Given the description of an element on the screen output the (x, y) to click on. 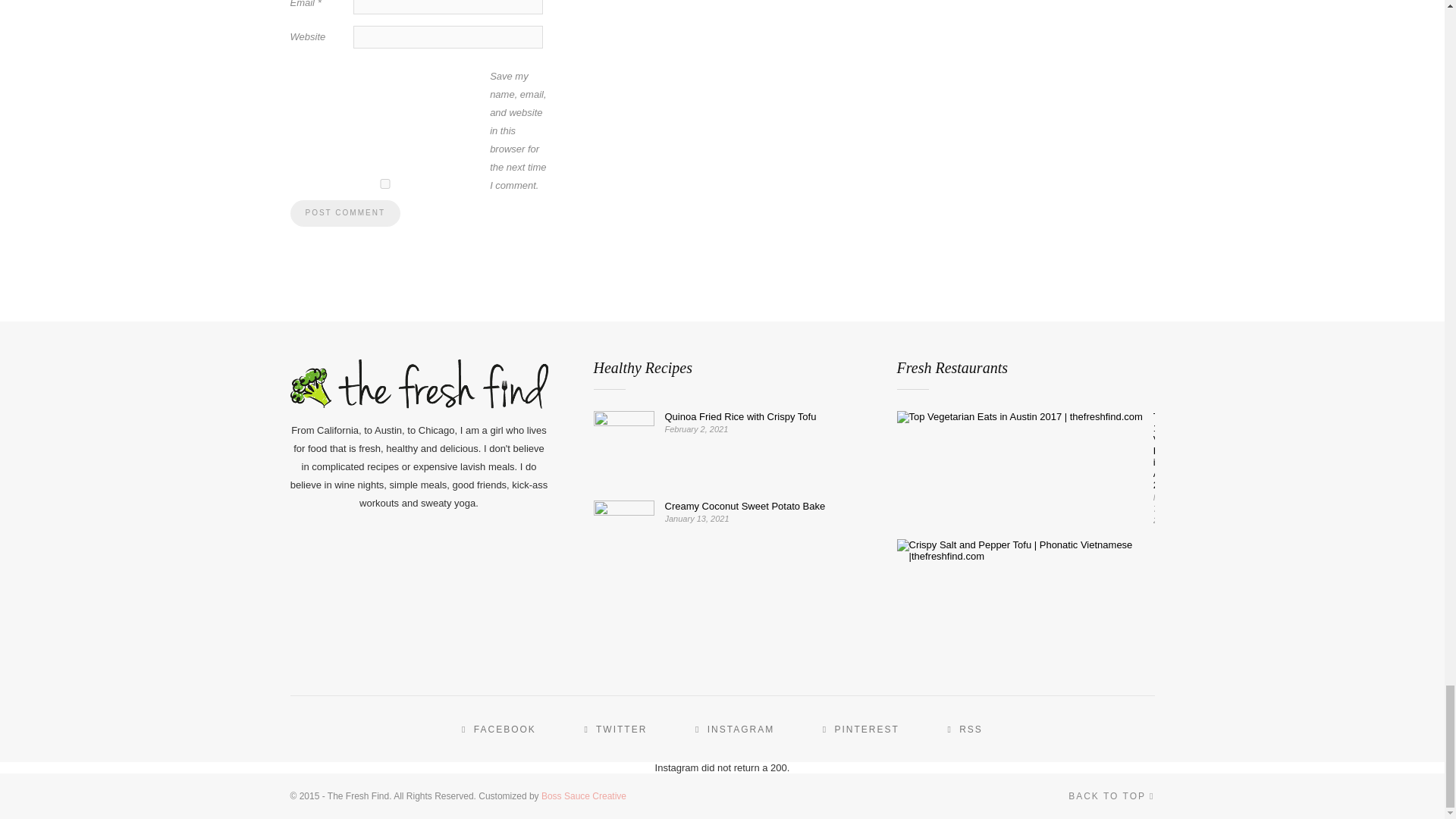
yes (384, 184)
Post Comment (343, 212)
